Given the description of an element on the screen output the (x, y) to click on. 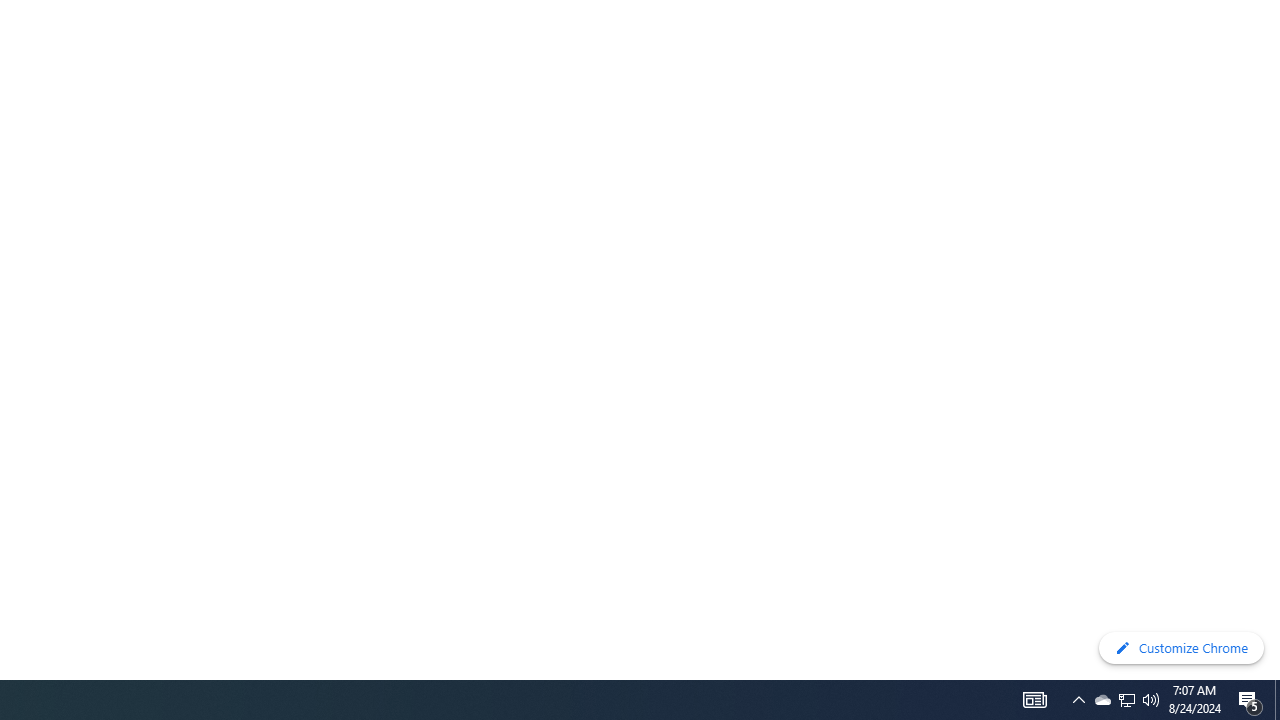
Customize Chrome (1181, 647)
